Given the description of an element on the screen output the (x, y) to click on. 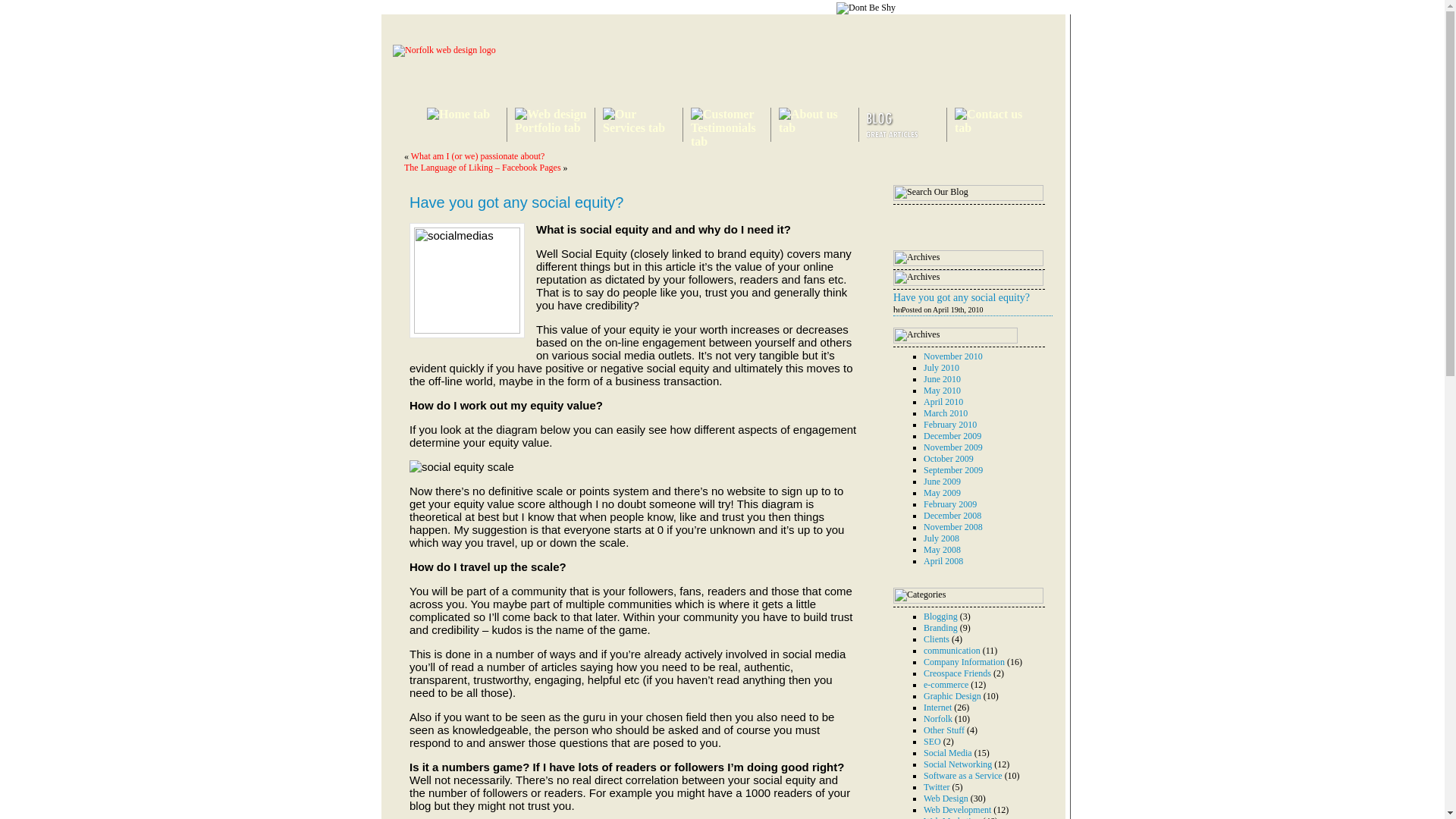
November 2008 (952, 526)
June 2010 (941, 378)
November 2009 (952, 446)
Link to the Creospace services (640, 127)
May 2009 (941, 491)
Contact Creospace web designers in norfolk (992, 127)
View the Creospace portfolio of web design work (553, 127)
July 2010 (941, 367)
Norfolk web design blog (893, 135)
May 2010 (941, 389)
May 2008 (941, 549)
March 2010 (945, 412)
socialmedias (466, 280)
September 2009 (952, 469)
